Given the description of an element on the screen output the (x, y) to click on. 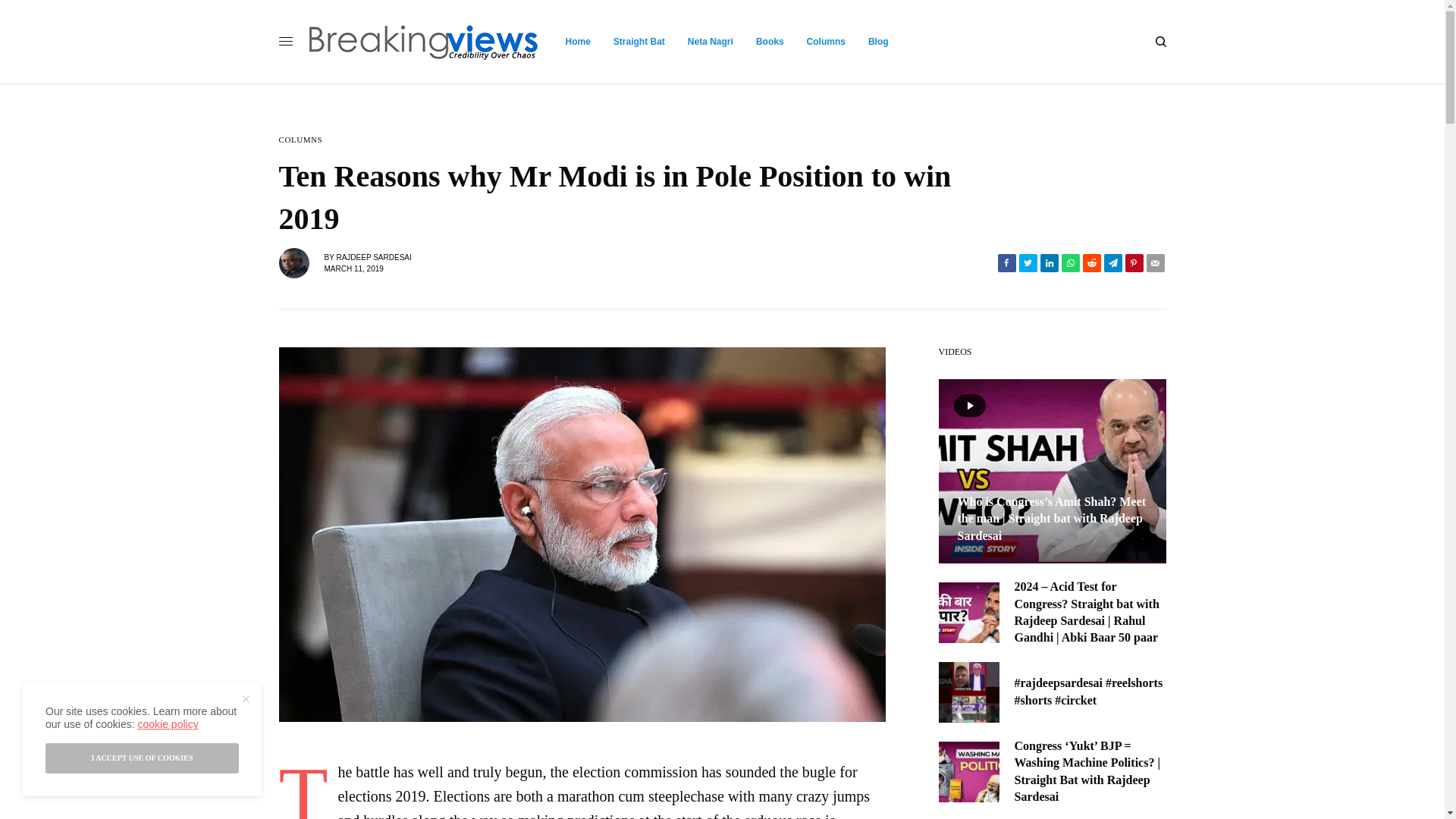
RAJDEEP SARDESAI (373, 257)
COLUMNS (301, 139)
Posts by Rajdeep Sardesai (373, 257)
